Given the description of an element on the screen output the (x, y) to click on. 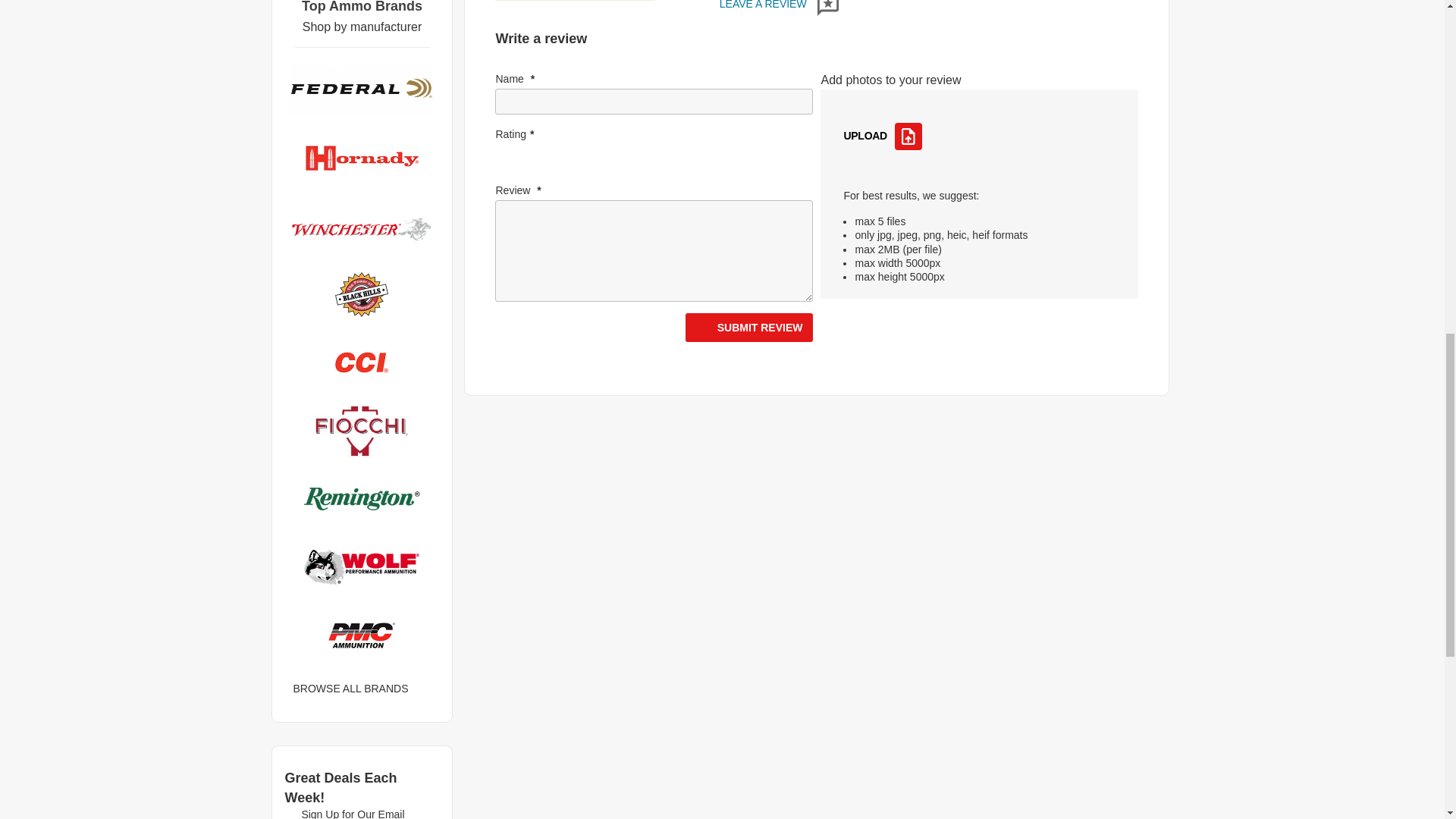
3 (571, 164)
LEAVE A REVIEW (778, 4)
1 (510, 164)
SUBMIT REVIEW (749, 327)
4 (600, 164)
Submit Review (749, 327)
5 (630, 164)
2 (540, 164)
